Given the description of an element on the screen output the (x, y) to click on. 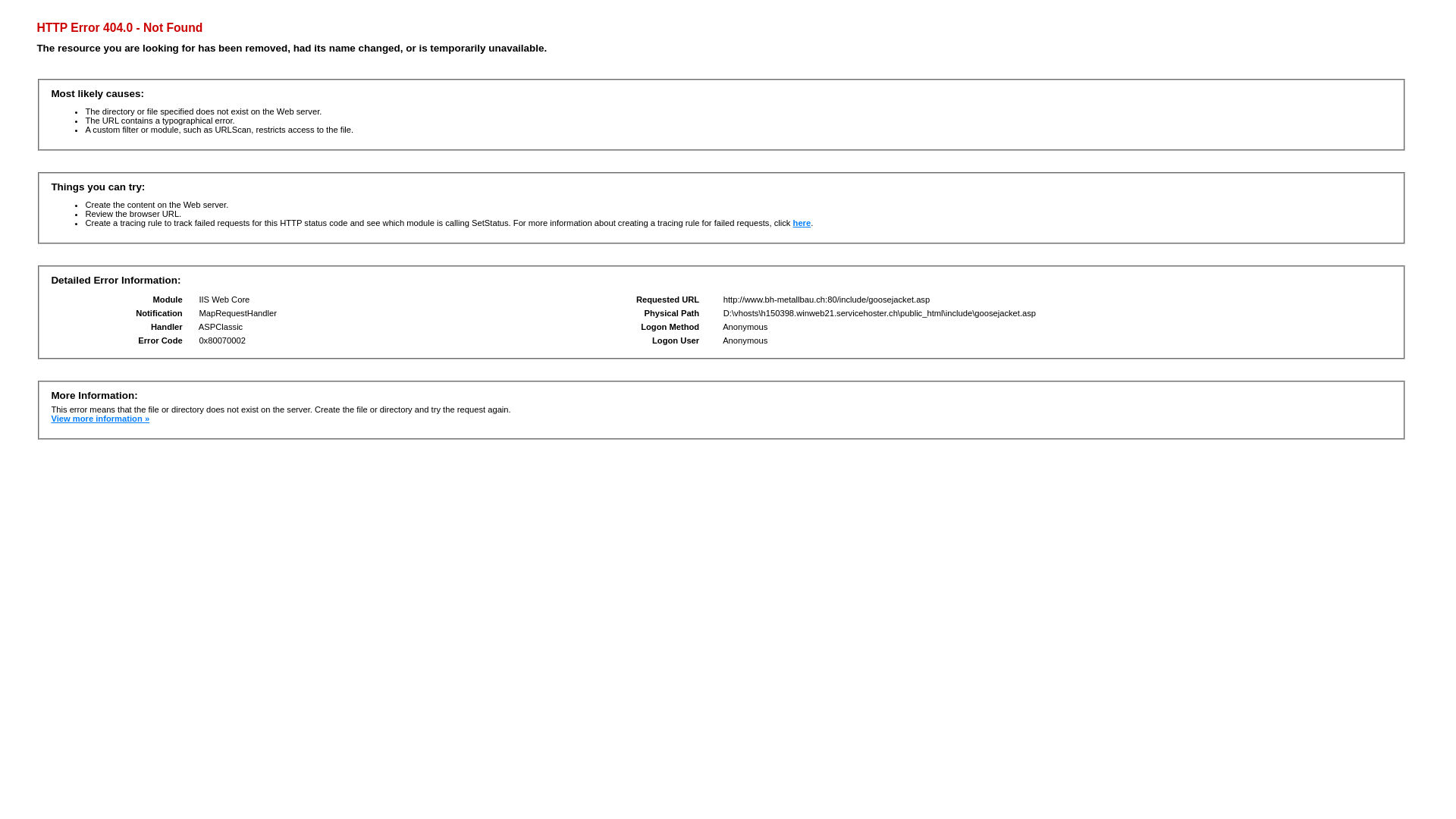
here Element type: text (802, 222)
